Given the description of an element on the screen output the (x, y) to click on. 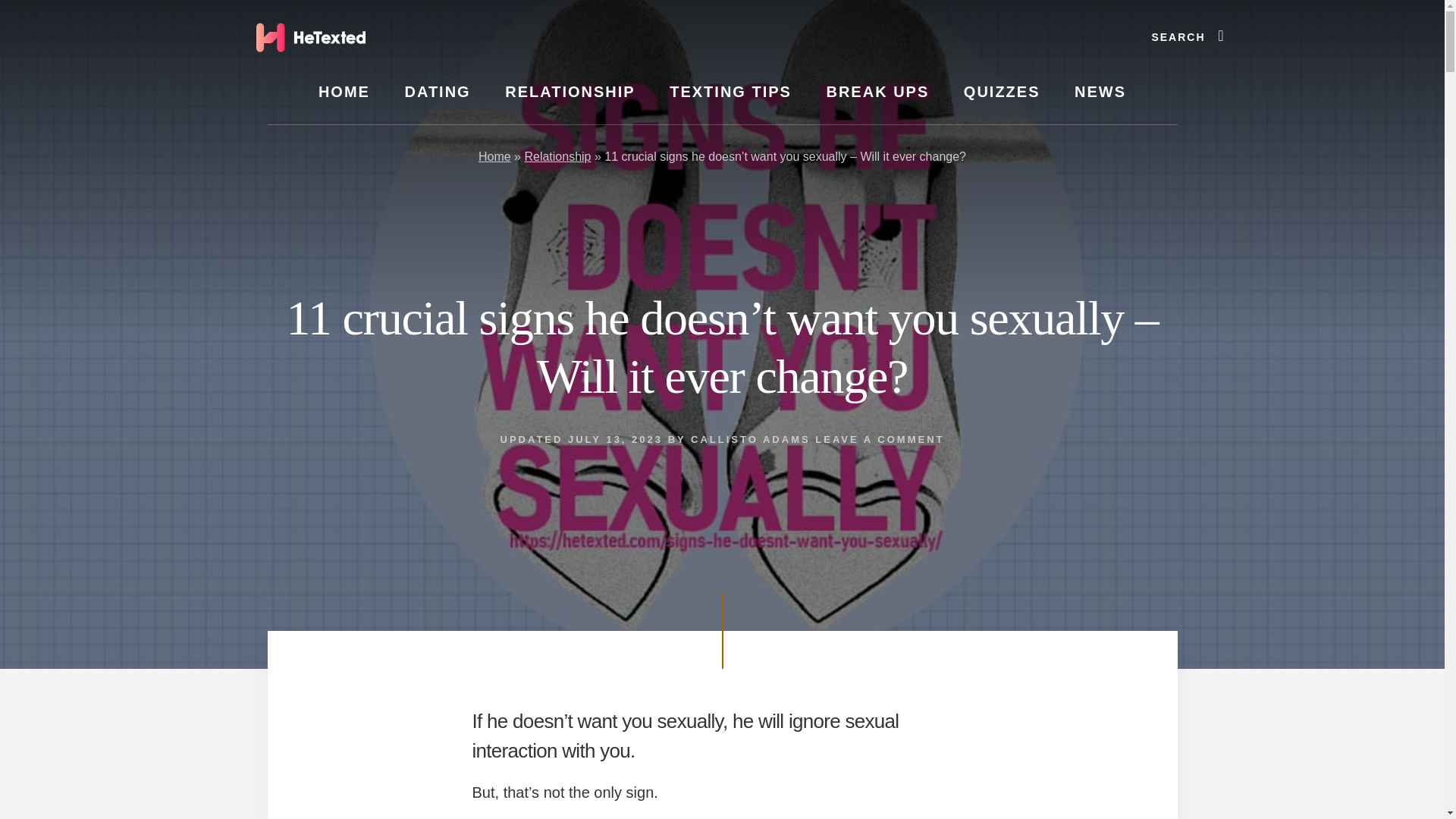
HOME (343, 91)
Relationship (557, 155)
Home (495, 155)
NEWS (1100, 91)
RELATIONSHIP (569, 91)
DATING (436, 91)
CALLISTO ADAMS (750, 439)
BREAK UPS (876, 91)
